Given the description of an element on the screen output the (x, y) to click on. 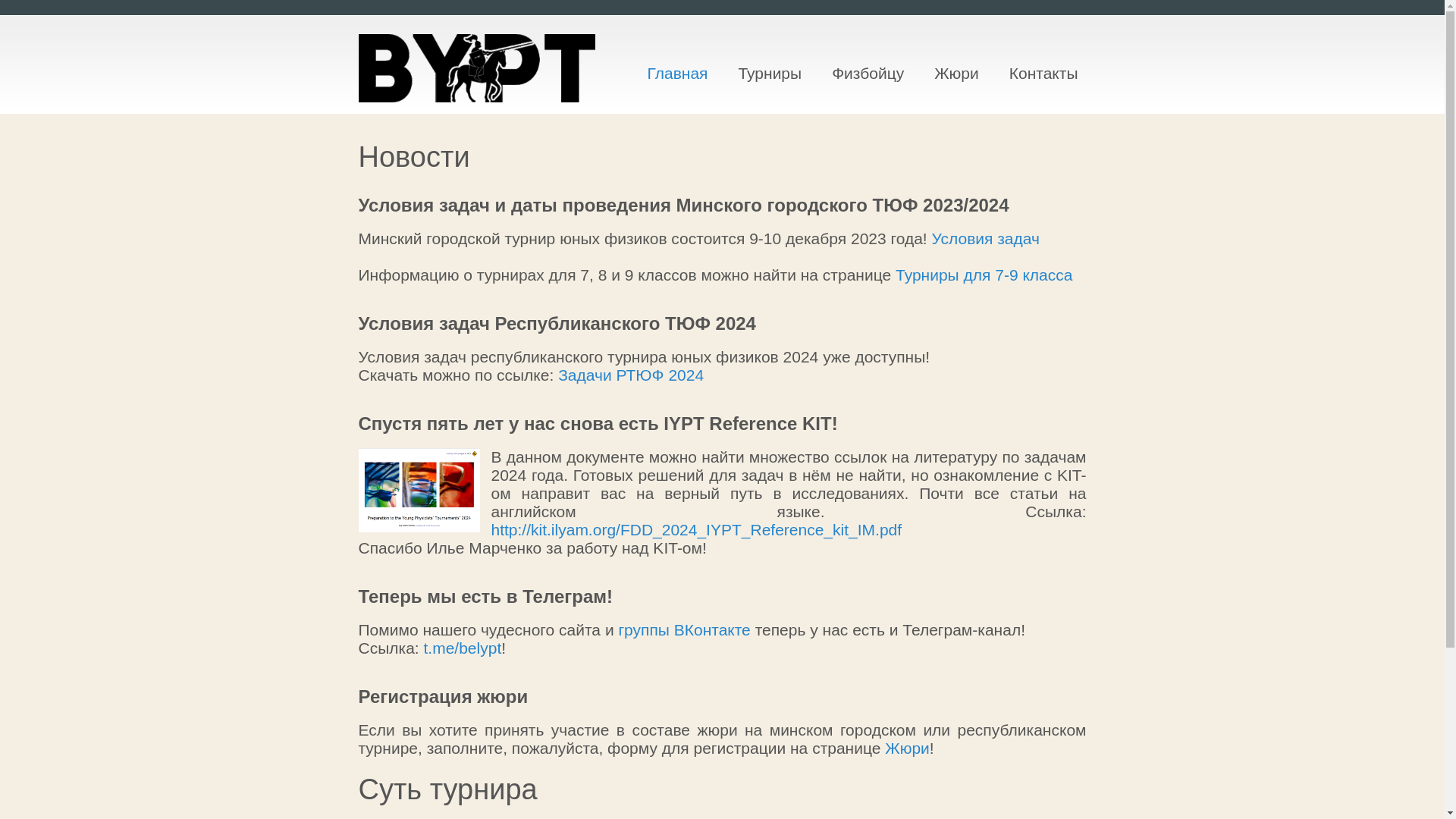
http://kit.ilyam.org/FDD_2024_IYPT_Reference_kit_IM.pdf Element type: text (696, 529)
t.me/belypt Element type: text (462, 647)
